Given the description of an element on the screen output the (x, y) to click on. 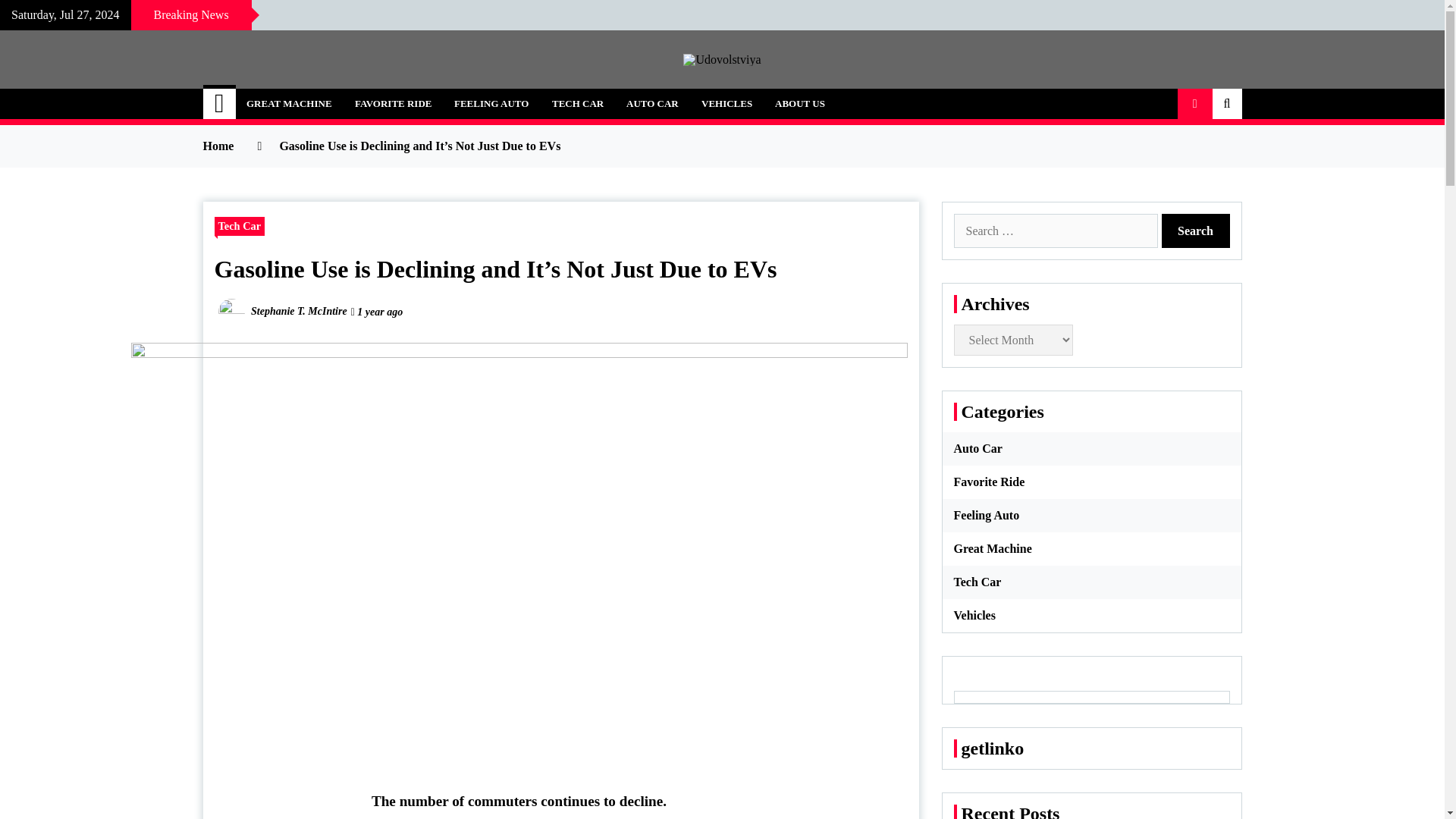
TECH CAR (577, 103)
Udovolstviya (300, 95)
Home (219, 103)
FEELING AUTO (491, 103)
ABOUT US (798, 103)
Search (1195, 230)
GREAT MACHINE (288, 103)
FAVORITE RIDE (392, 103)
Search (1195, 230)
VEHICLES (726, 103)
AUTO CAR (652, 103)
